Given the description of an element on the screen output the (x, y) to click on. 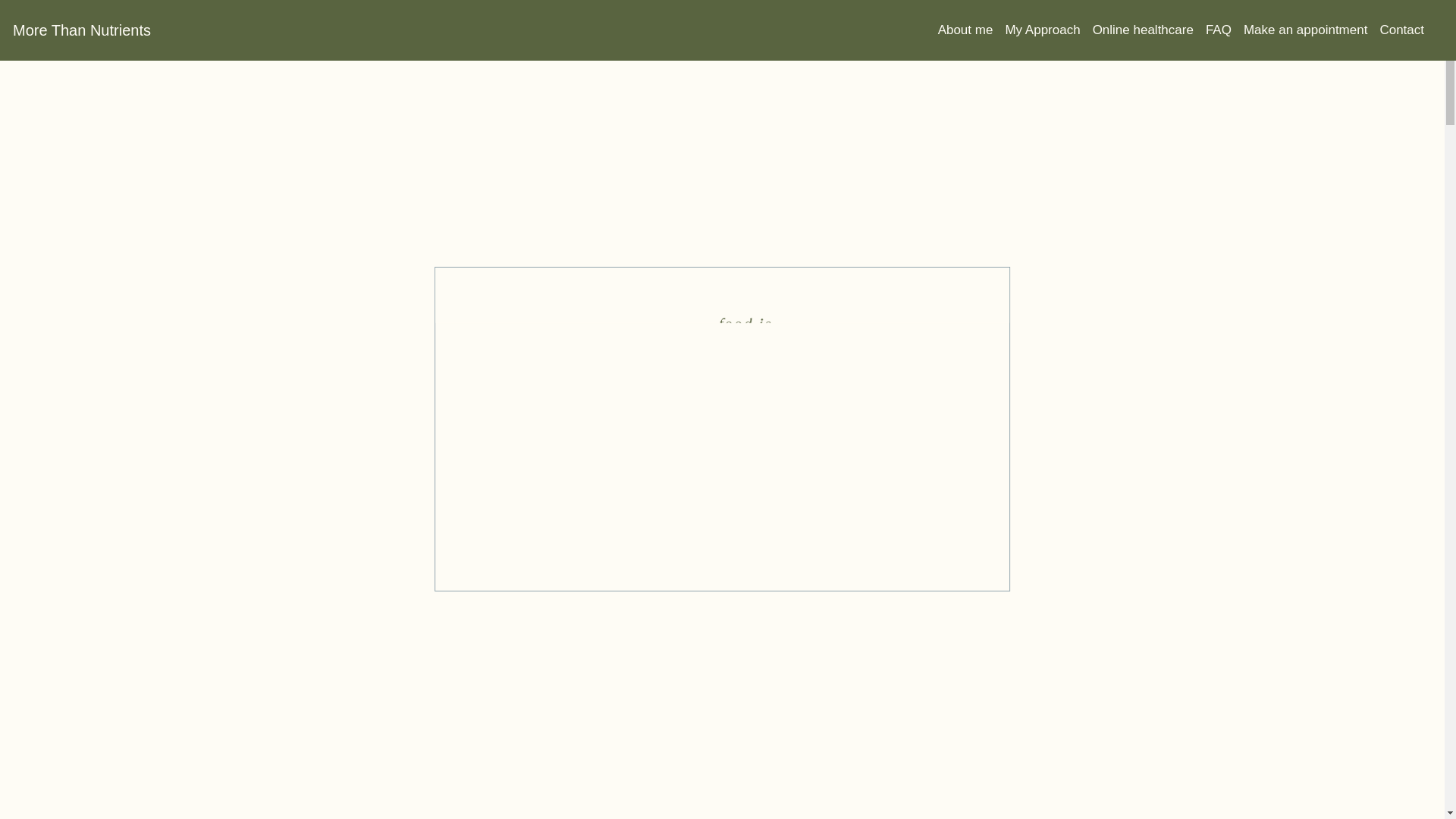
Online healthcare (1149, 29)
My Approach (1048, 29)
About me (971, 29)
Contact (1407, 29)
Make an appointment (1312, 29)
More Than Nutrients (82, 30)
